Given the description of an element on the screen output the (x, y) to click on. 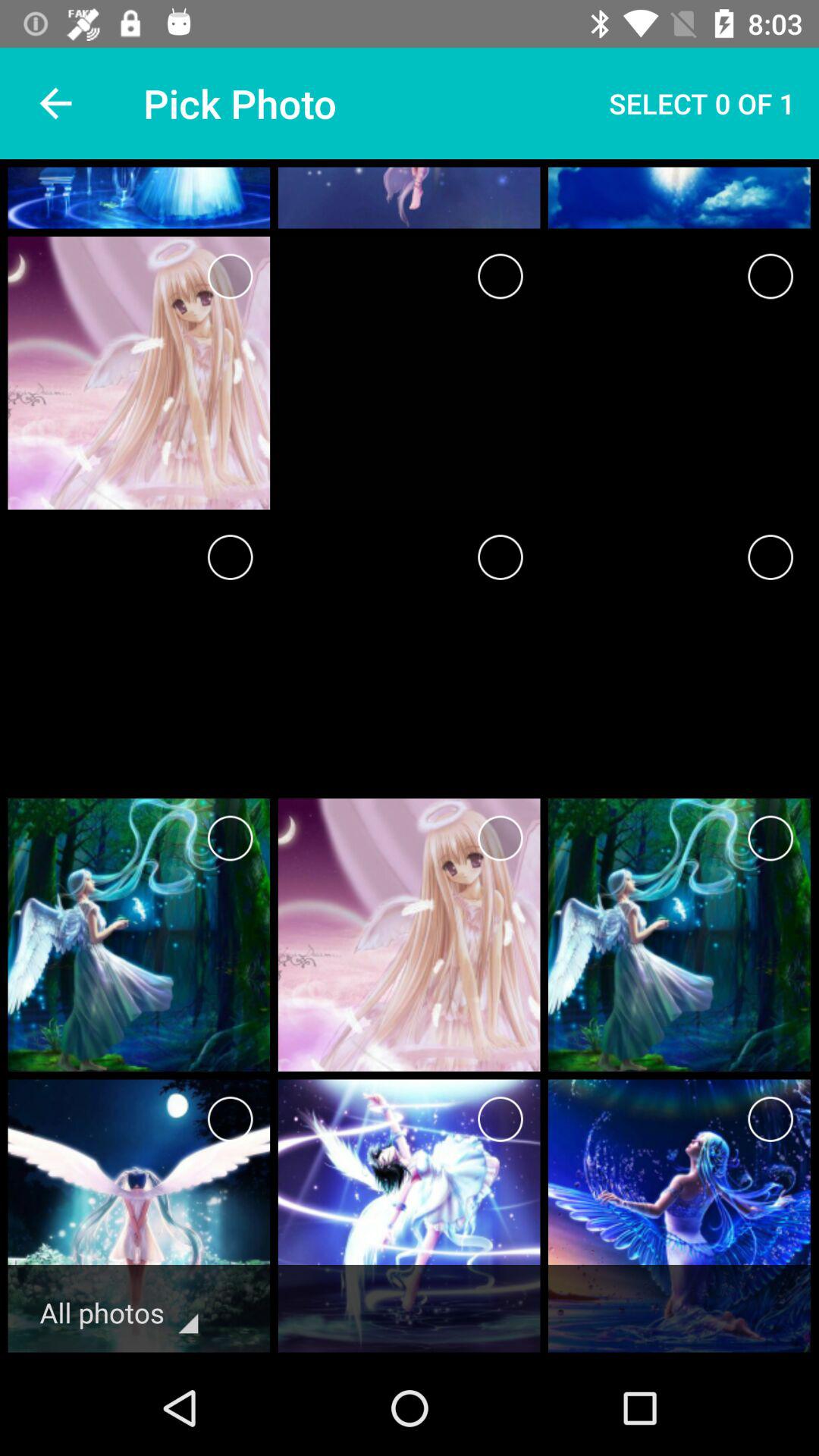
selection option (770, 557)
